Given the description of an element on the screen output the (x, y) to click on. 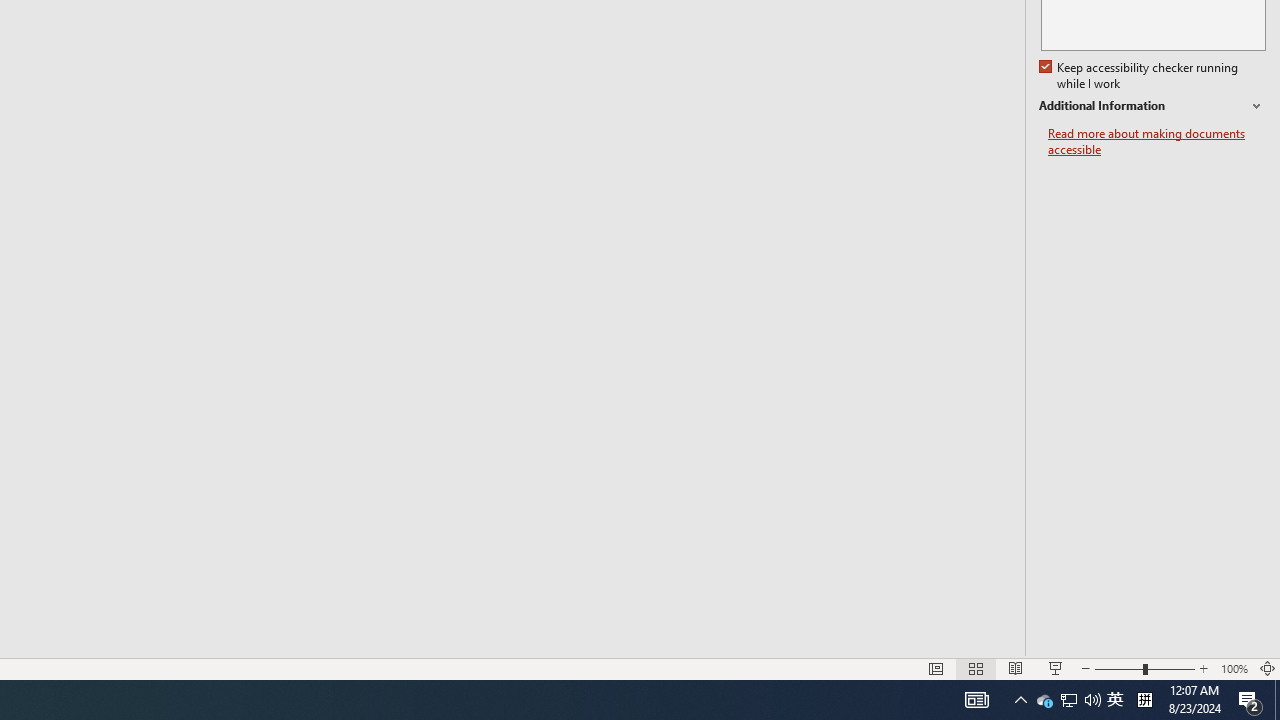
Read more about making documents accessible (1156, 142)
Additional Information (1152, 106)
Zoom 100% (1234, 668)
Keep accessibility checker running while I work (1140, 76)
